Given the description of an element on the screen output the (x, y) to click on. 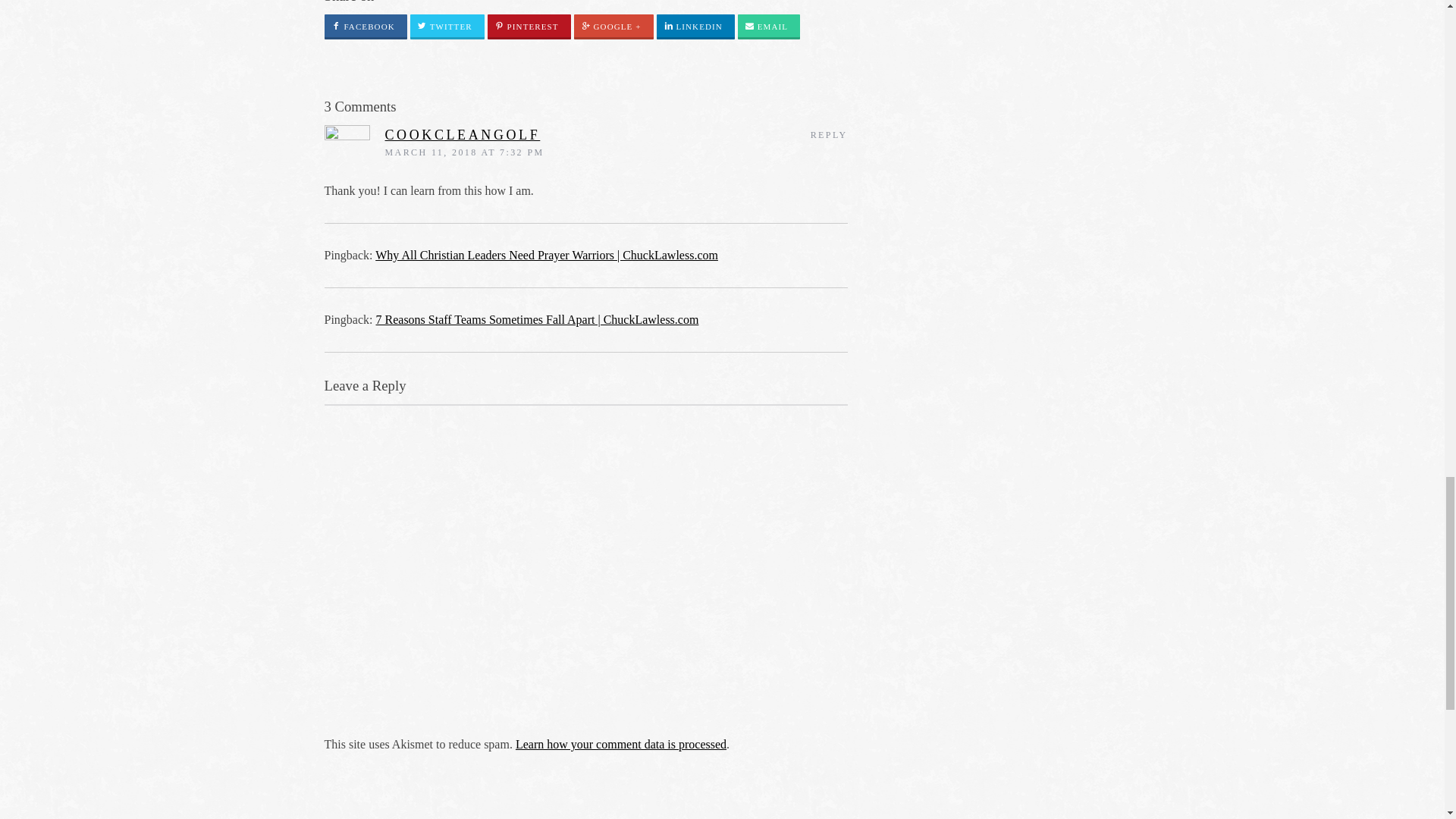
MARCH 11, 2018 AT 7:32 PM (464, 152)
LINKEDIN (695, 26)
TWITTER (447, 26)
PINTEREST (528, 26)
Learn how your comment data is processed (620, 744)
EMAIL (768, 26)
REPLY (828, 134)
FACEBOOK (365, 26)
COOKCLEANGOLF (462, 134)
